Given the description of an element on the screen output the (x, y) to click on. 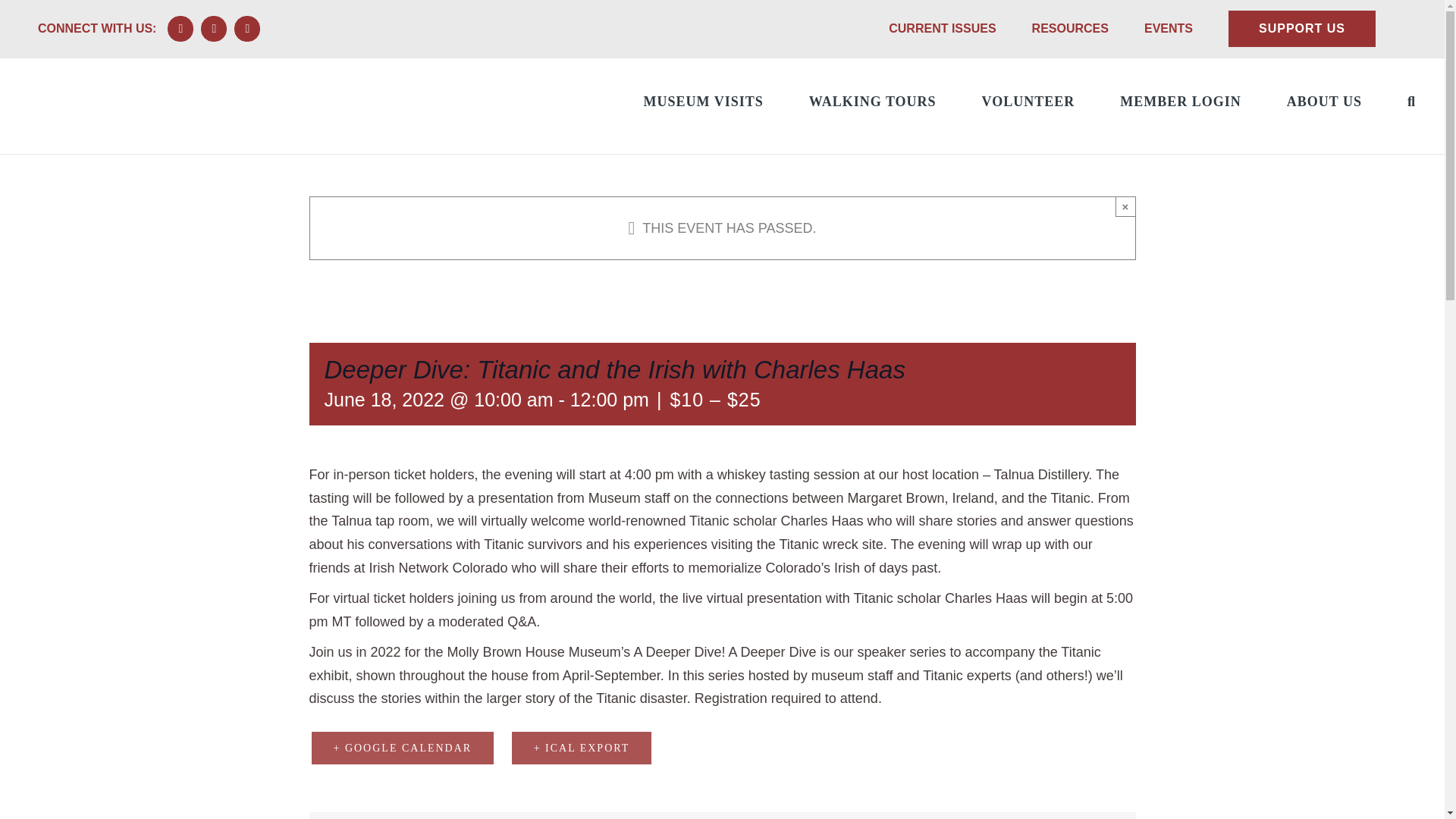
Download .ics file (581, 747)
EVENTS (1168, 28)
ABOUT US (1324, 99)
Twitter (247, 28)
SUPPORT US (1302, 28)
WALKING TOURS (872, 99)
Facebook (180, 28)
MUSEUM VISITS (702, 99)
MEMBER LOGIN (1180, 99)
CURRENT ISSUES (942, 28)
